Given the description of an element on the screen output the (x, y) to click on. 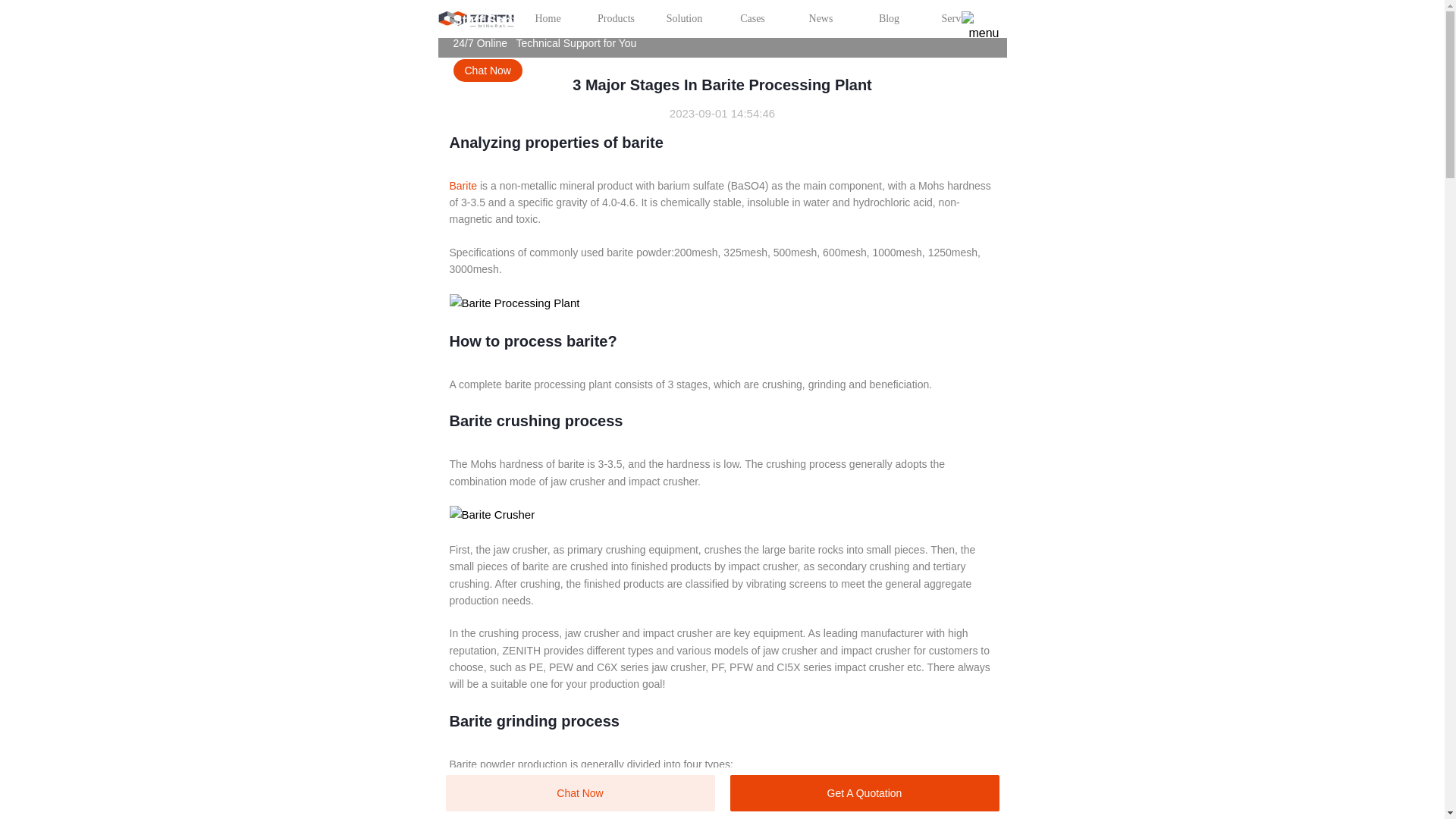
Chat Now (487, 69)
Barite (462, 185)
